Given the description of an element on the screen output the (x, y) to click on. 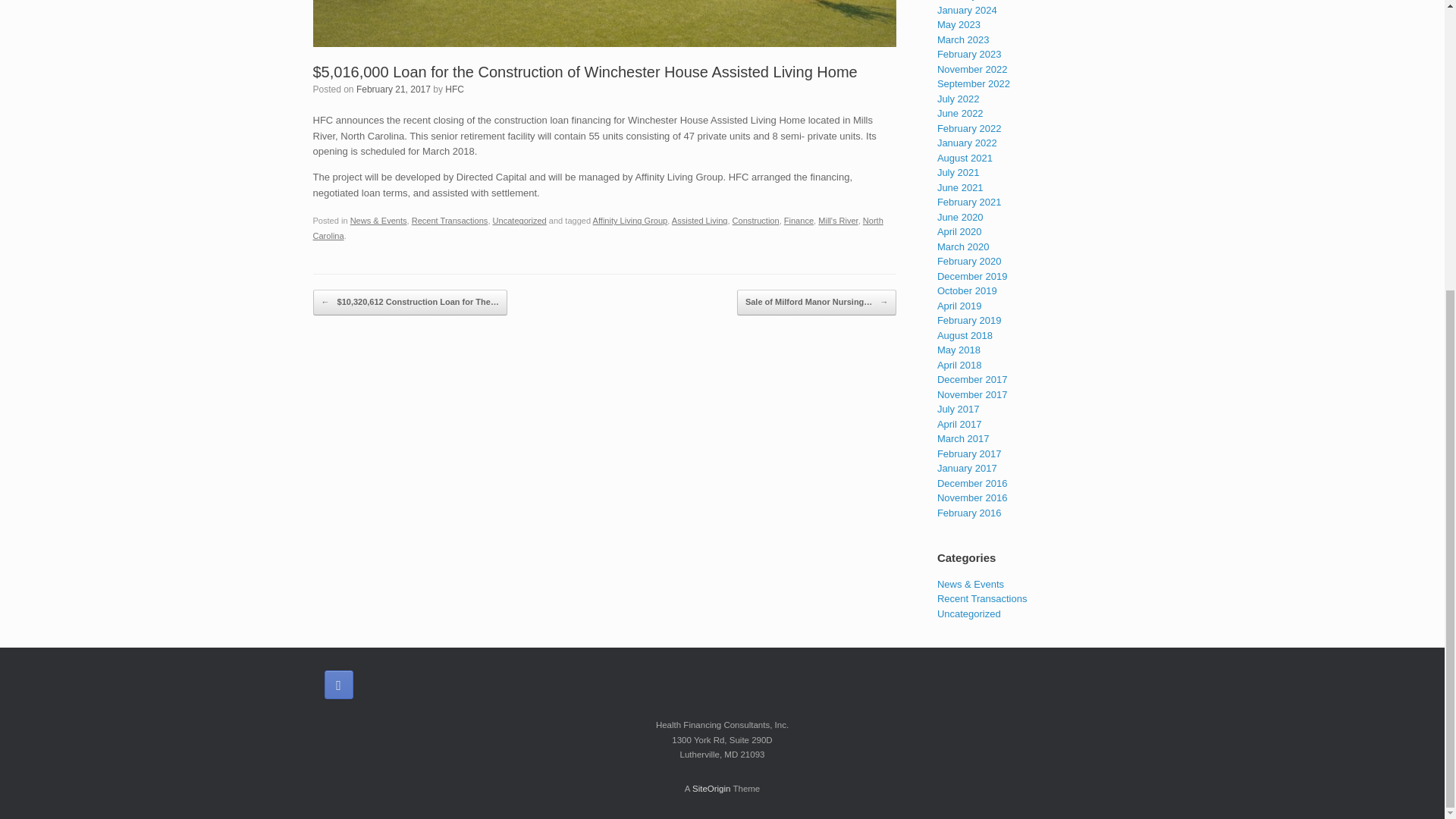
January 2022 (967, 142)
Finance (798, 220)
March 2023 (963, 39)
July 2022 (958, 98)
February 2024 (969, 0)
February 2023 (969, 53)
September 2022 (973, 83)
February 2022 (969, 128)
November 2022 (972, 69)
Mill's River (837, 220)
